Given the description of an element on the screen output the (x, y) to click on. 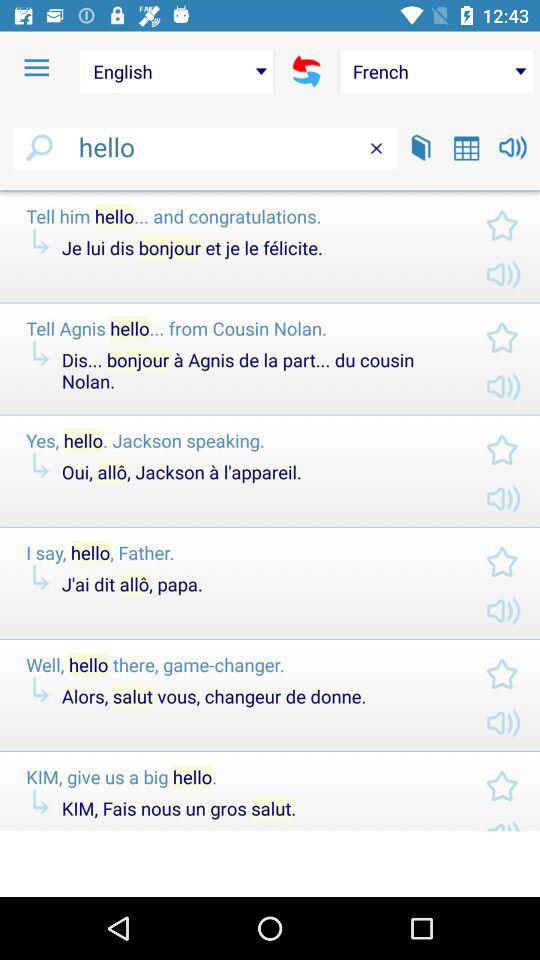
open dictionary (421, 147)
